Given the description of an element on the screen output the (x, y) to click on. 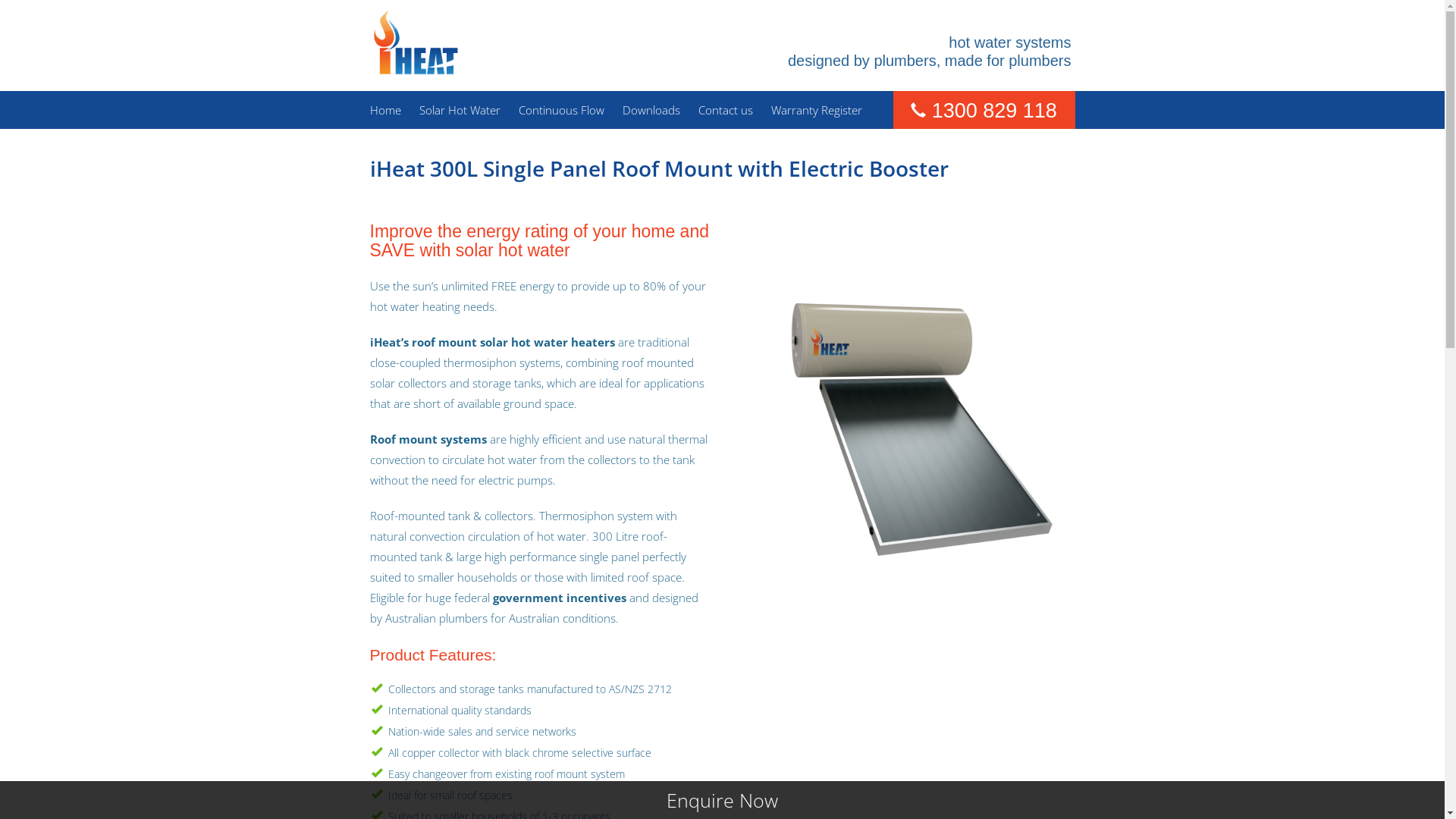
Solar Hot Water Element type: text (458, 109)
Continuous Flow Element type: text (561, 109)
Home Element type: text (385, 109)
1300 829 118 Element type: text (994, 110)
Home Element type: hover (415, 41)
Enquire Now Element type: text (722, 795)
Downloads Element type: text (650, 109)
Warranty Register Element type: text (815, 109)
300L Roof Mount Solar Single Panel Element type: hover (904, 407)
Skip to main content Element type: text (49, 0)
Contact us Element type: text (724, 109)
